Given the description of an element on the screen output the (x, y) to click on. 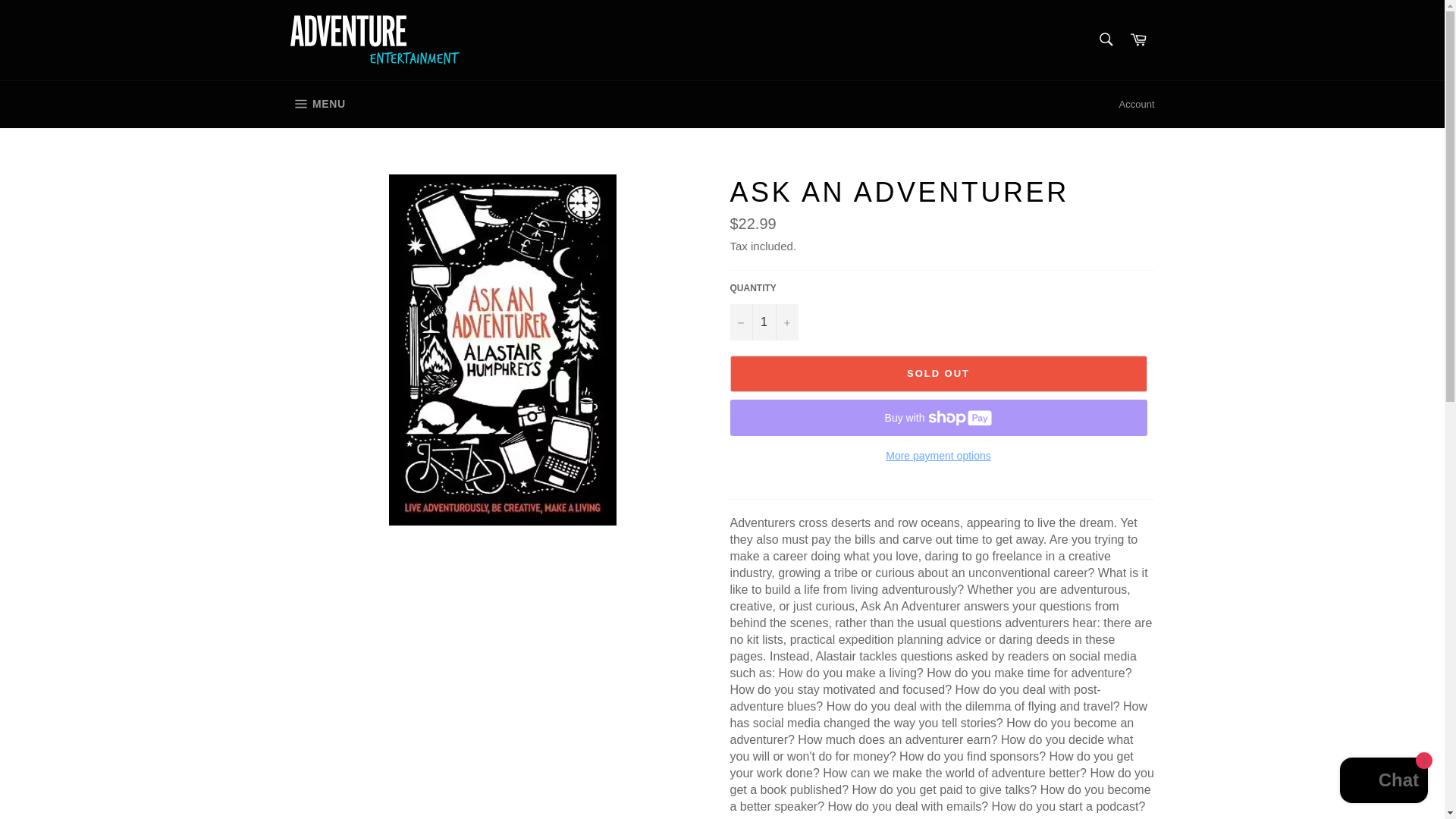
Search (317, 104)
1 (1104, 38)
Cart (763, 321)
Shopify online store chat (1138, 39)
